Given the description of an element on the screen output the (x, y) to click on. 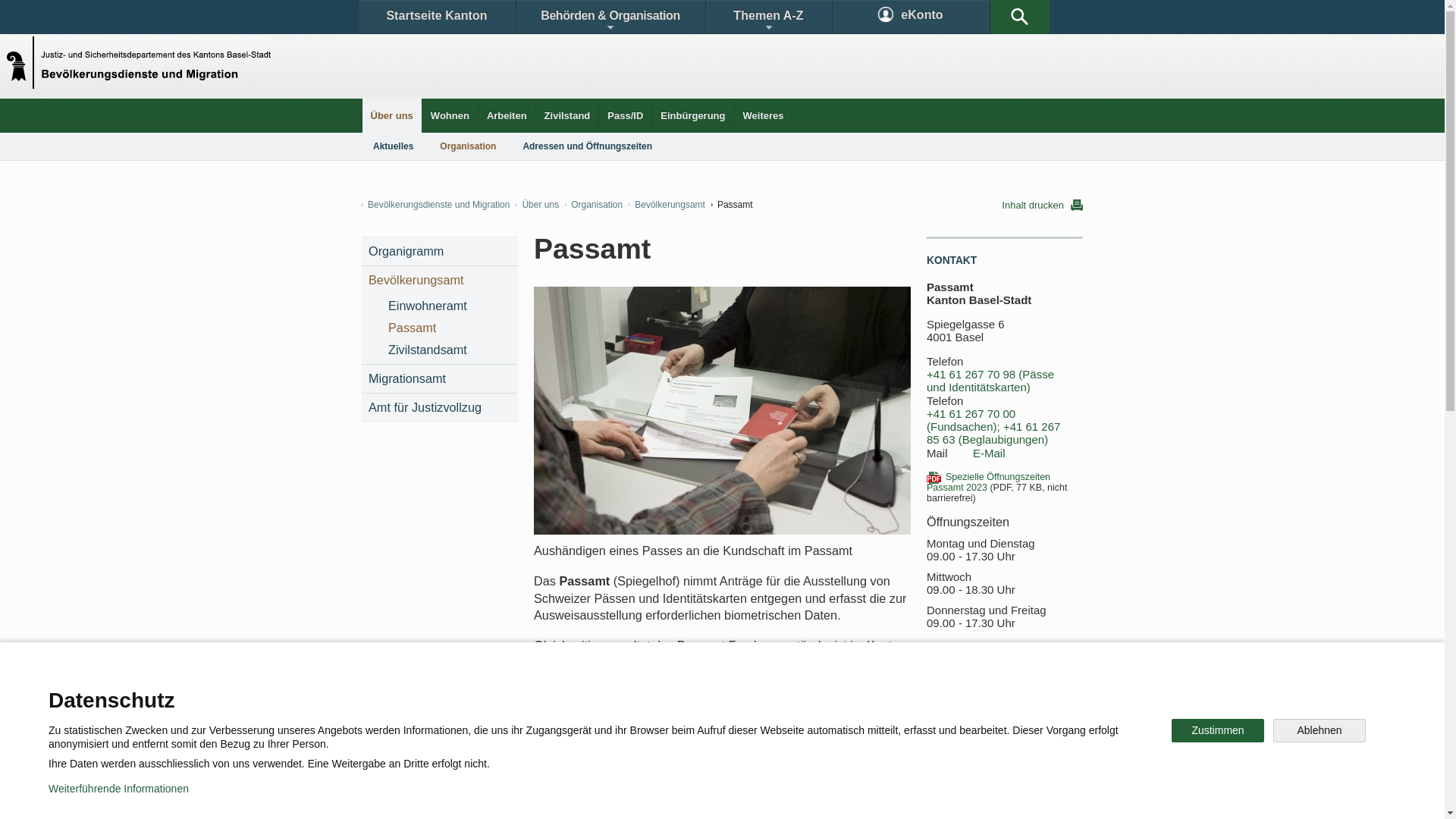
Wohnen Element type: text (449, 115)
Instagram Element type: text (738, 746)
Aktuelles Element type: text (392, 145)
Zivilstandsamt Element type: text (449, 349)
Arbeiten Element type: text (506, 115)
Organisation Element type: text (467, 145)
Pass/ID Element type: text (625, 115)
Kontakt Element type: text (406, 693)
Gesetze Element type: text (597, 693)
Einwohneramt Element type: text (449, 305)
Organisation Element type: text (593, 204)
Twitter Element type: text (642, 746)
Ablehnen Element type: text (1319, 730)
Stadtplan & Karte Element type: text (504, 693)
Zustimmen Element type: text (1217, 730)
Migrationsamt Element type: text (439, 378)
Zivilstand Element type: text (567, 115)
Startseite Kanton Element type: text (435, 17)
impressum Element type: text (648, 796)
Bild & Multimedia Element type: text (908, 693)
Inhalt drucken Element type: text (1041, 204)
Organigramm Element type: text (439, 251)
Nutzungsregelungen Element type: text (542, 796)
E-Mail Element type: text (988, 453)
Statistiken Element type: text (687, 693)
Weiteres Element type: text (762, 115)
Zur mobilen Ansicht Element type: text (752, 796)
Facebook Element type: text (547, 746)
Publikationen Element type: text (795, 693)
eKonto Element type: text (910, 17)
Themen A-Z Element type: text (768, 17)
